Given the description of an element on the screen output the (x, y) to click on. 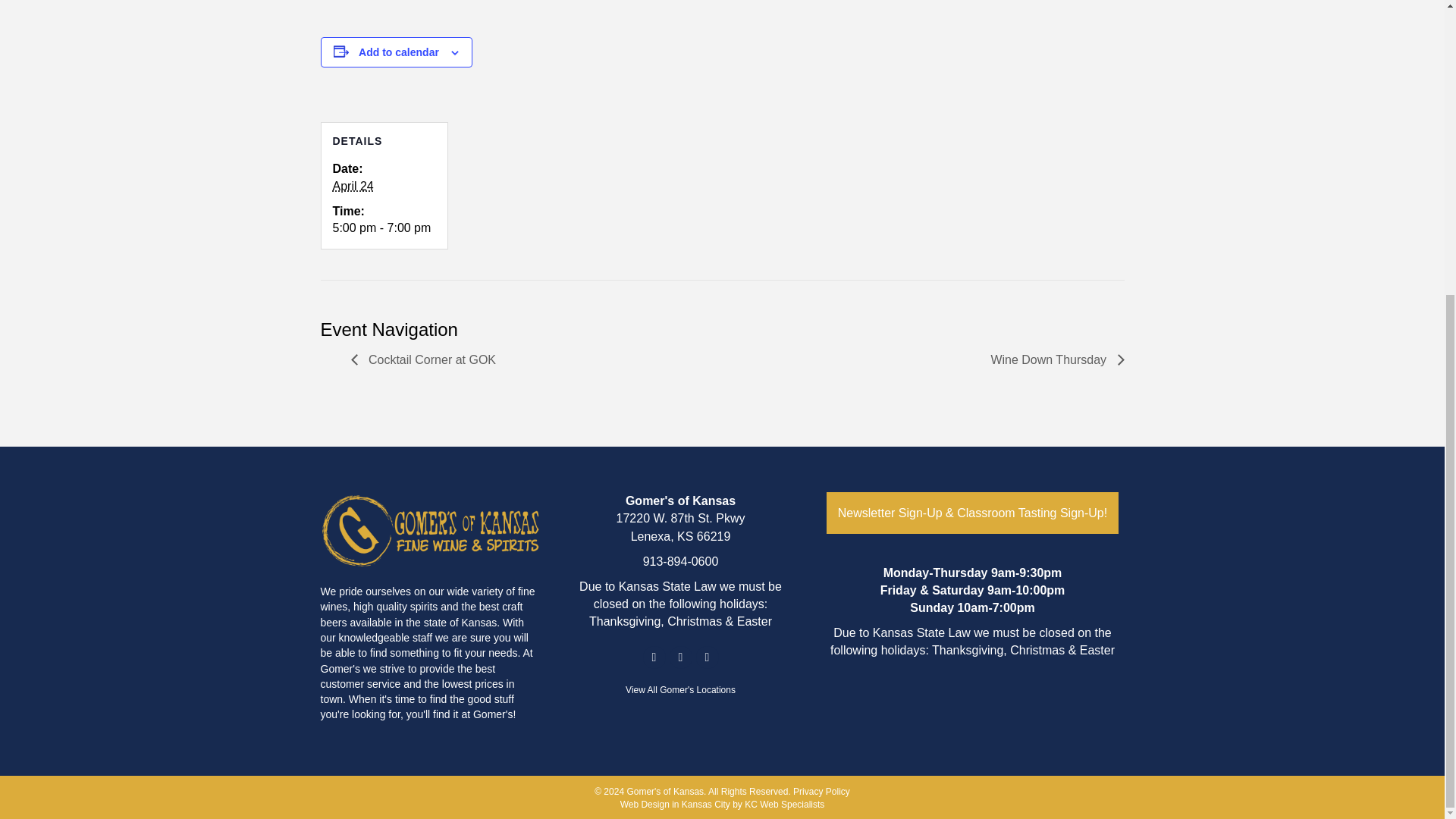
2024-04-24 (351, 185)
2024-04-24 (383, 228)
Gomers-of-Kansas (430, 530)
Twitter (707, 657)
Facebook (654, 657)
Cocktail Corner at GOK (426, 359)
Instagram (679, 657)
Add to calendar (398, 51)
